Given the description of an element on the screen output the (x, y) to click on. 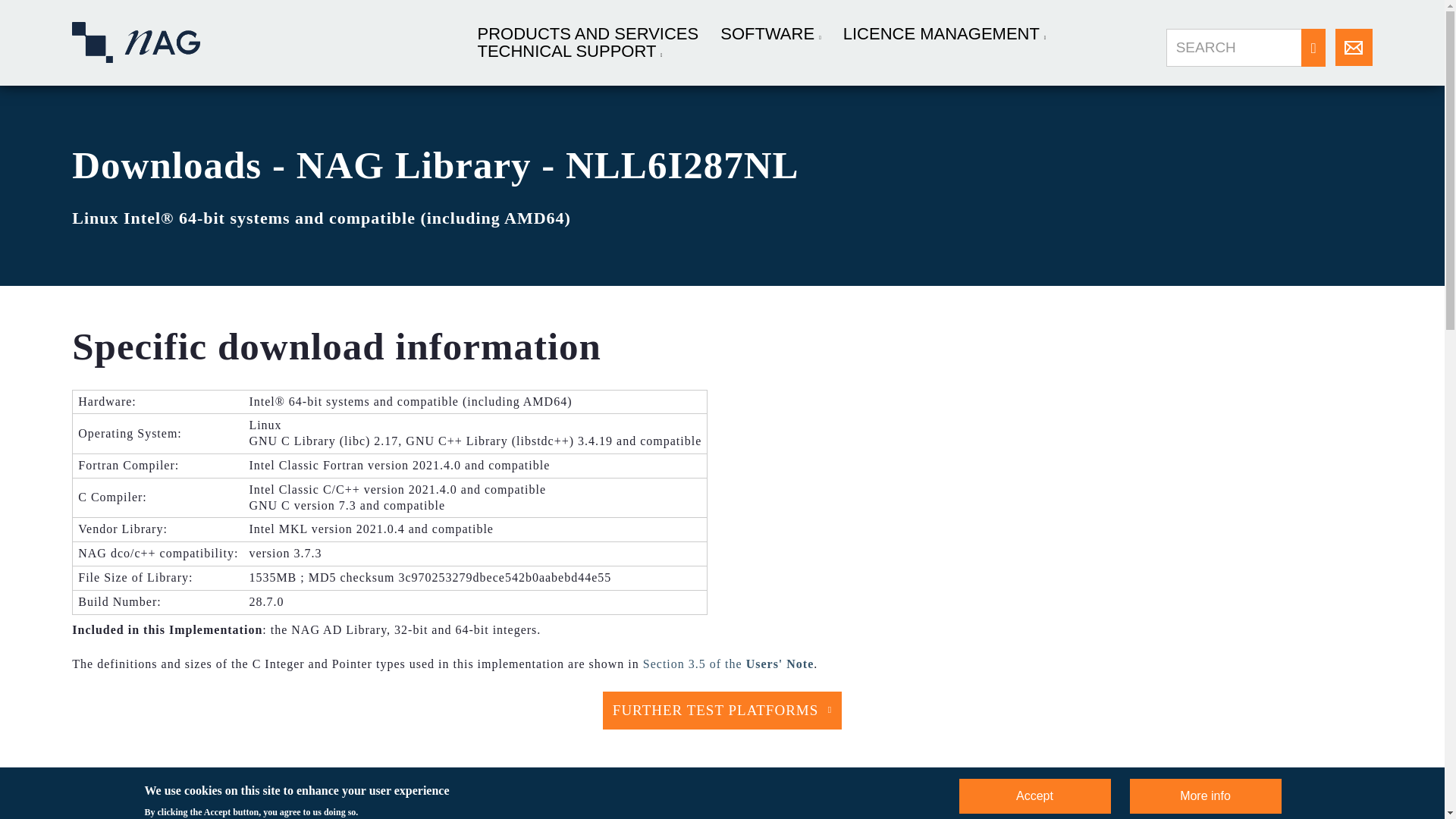
PRODUCTS AND SERVICES (587, 33)
LICENCE MANAGEMENT (944, 33)
SUBMIT (1312, 47)
SOFTWARE (770, 33)
FURTHER TEST PLATFORMS (721, 710)
TECHNICAL SUPPORT (569, 51)
Home (135, 42)
Section 3.5 of the Users' Note (728, 663)
